Given the description of an element on the screen output the (x, y) to click on. 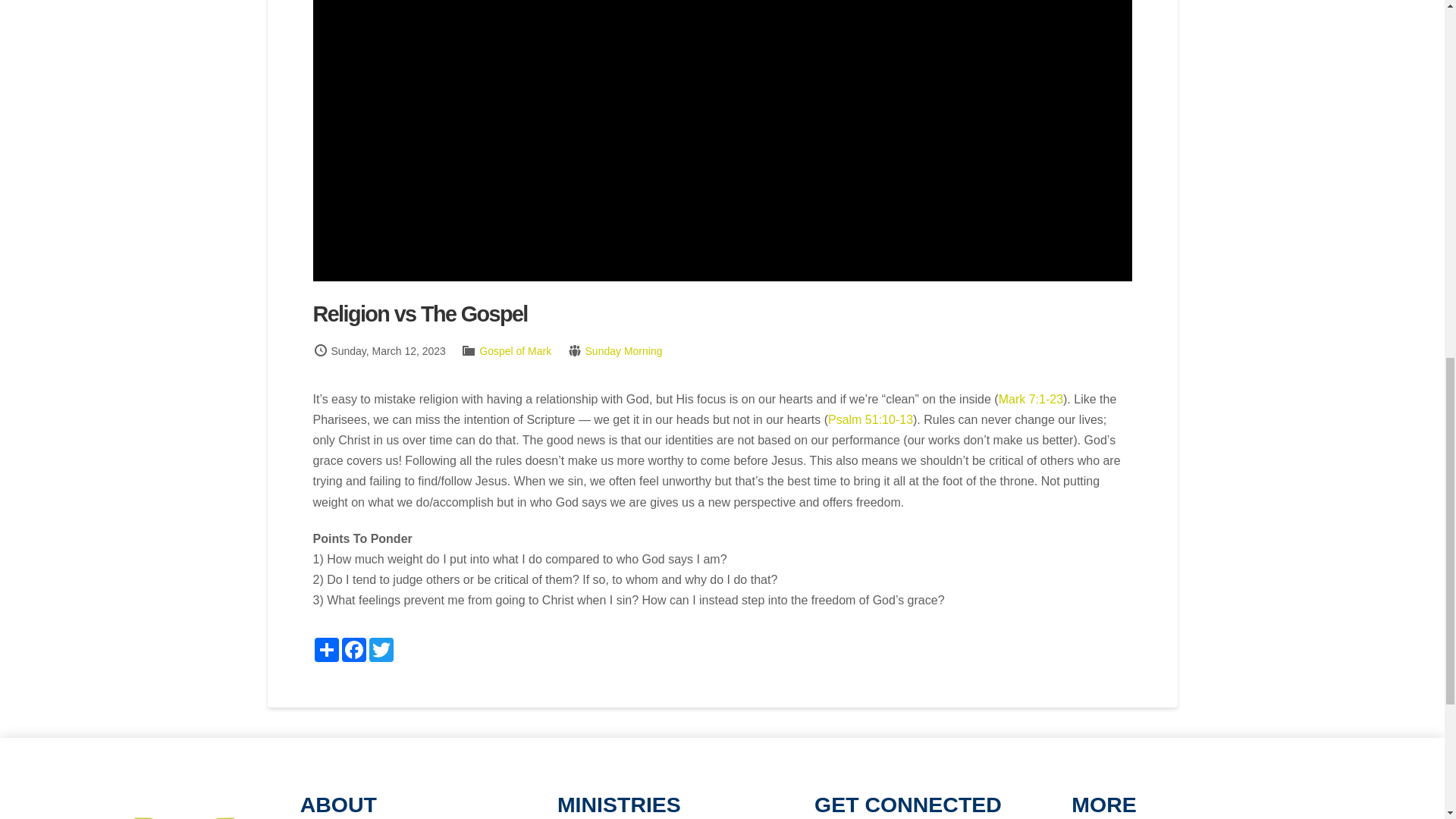
Gospel of Mark (515, 350)
Sunday Morning (623, 350)
Twitter (380, 649)
Mark 7:1-23 (1030, 399)
Facebook (352, 649)
Share (326, 649)
Psalm 51:10-13 (870, 419)
